Given the description of an element on the screen output the (x, y) to click on. 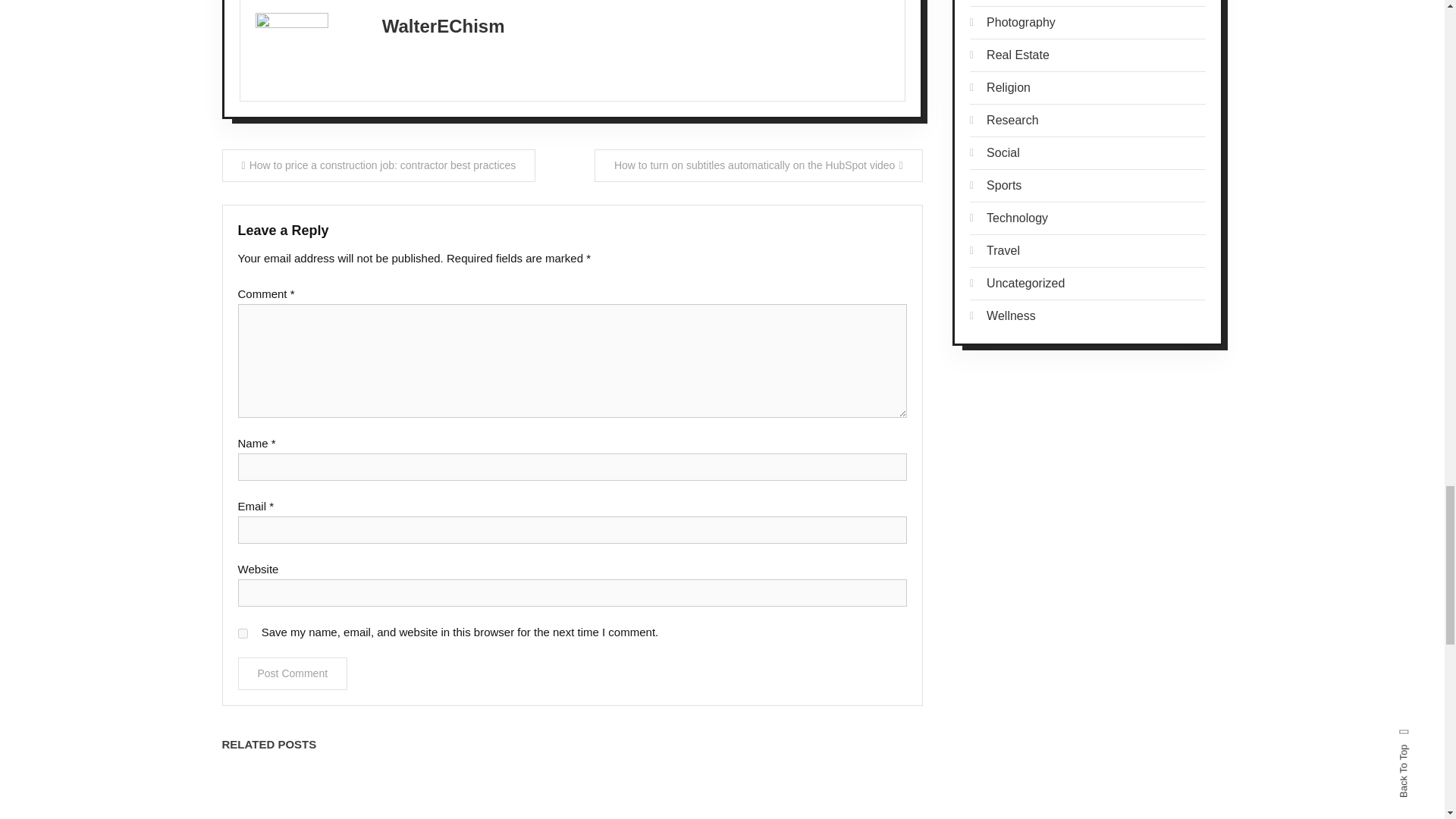
Post Comment (292, 673)
Post Comment (292, 673)
yes (242, 633)
Posts by WalterEChism (443, 25)
WalterEChism (443, 25)
How to turn on subtitles automatically on the HubSpot video (758, 165)
How to price a construction job: contractor best practices (378, 165)
